Given the description of an element on the screen output the (x, y) to click on. 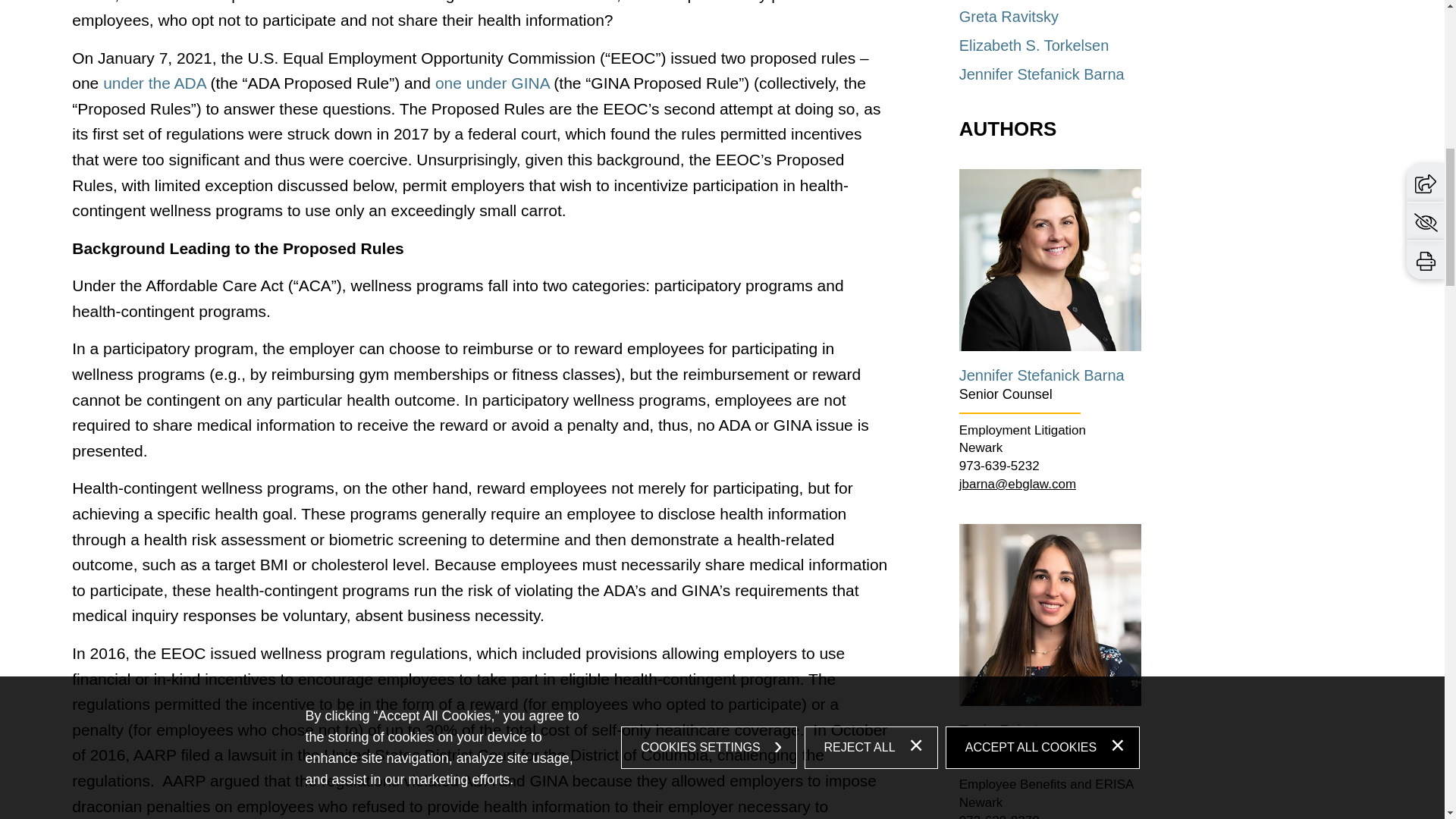
under the ADA (154, 82)
one under GINA (492, 82)
